Given the description of an element on the screen output the (x, y) to click on. 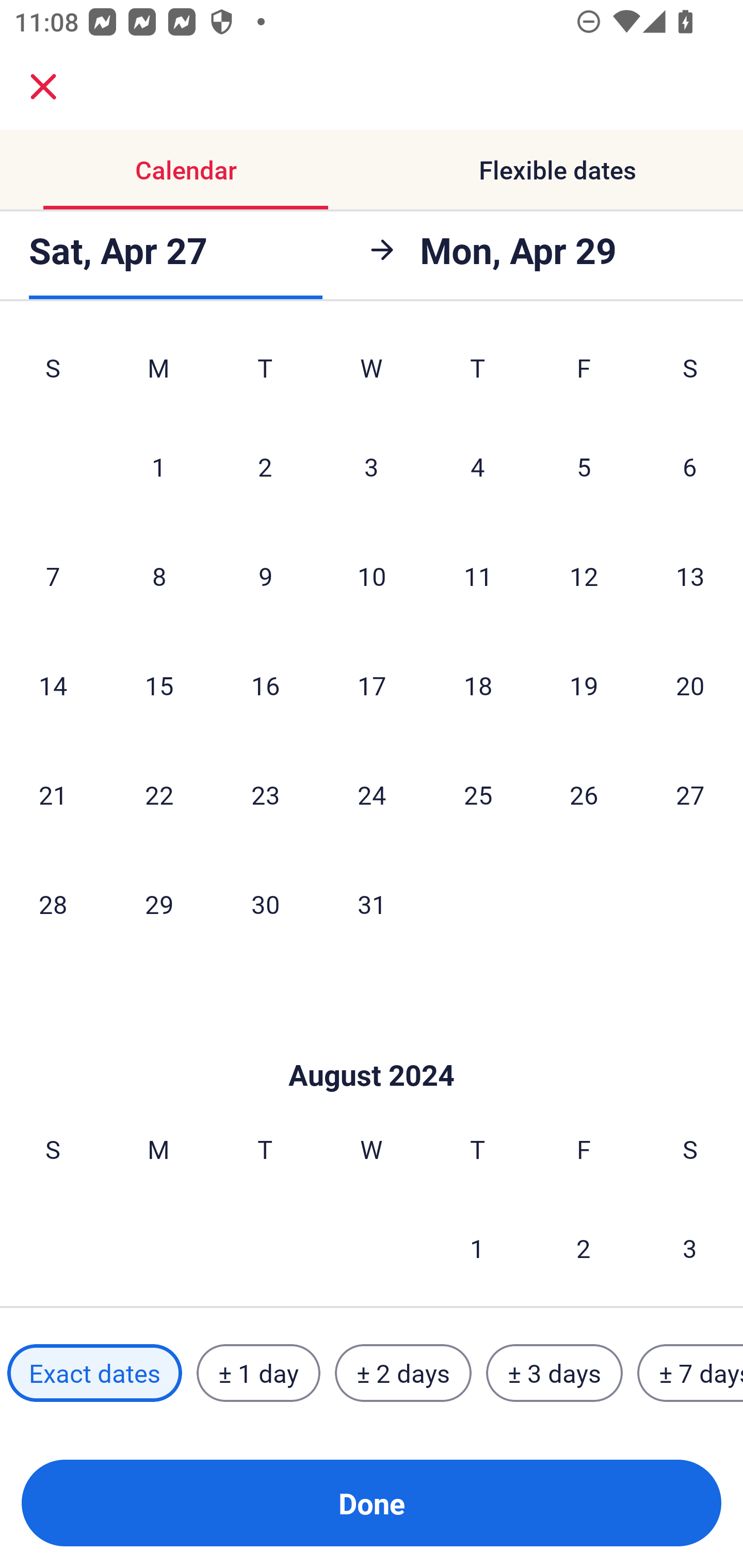
close. (43, 86)
Flexible dates (557, 170)
1 Monday, July 1, 2024 (158, 466)
2 Tuesday, July 2, 2024 (264, 466)
3 Wednesday, July 3, 2024 (371, 466)
4 Thursday, July 4, 2024 (477, 466)
5 Friday, July 5, 2024 (583, 466)
6 Saturday, July 6, 2024 (689, 466)
7 Sunday, July 7, 2024 (53, 575)
8 Monday, July 8, 2024 (159, 575)
9 Tuesday, July 9, 2024 (265, 575)
10 Wednesday, July 10, 2024 (371, 575)
11 Thursday, July 11, 2024 (477, 575)
12 Friday, July 12, 2024 (584, 575)
13 Saturday, July 13, 2024 (690, 575)
14 Sunday, July 14, 2024 (53, 684)
15 Monday, July 15, 2024 (159, 684)
16 Tuesday, July 16, 2024 (265, 684)
17 Wednesday, July 17, 2024 (371, 684)
18 Thursday, July 18, 2024 (477, 684)
19 Friday, July 19, 2024 (584, 684)
20 Saturday, July 20, 2024 (690, 684)
21 Sunday, July 21, 2024 (53, 793)
22 Monday, July 22, 2024 (159, 793)
23 Tuesday, July 23, 2024 (265, 793)
24 Wednesday, July 24, 2024 (371, 793)
25 Thursday, July 25, 2024 (477, 793)
26 Friday, July 26, 2024 (584, 793)
27 Saturday, July 27, 2024 (690, 793)
28 Sunday, July 28, 2024 (53, 903)
29 Monday, July 29, 2024 (159, 903)
30 Tuesday, July 30, 2024 (265, 903)
31 Wednesday, July 31, 2024 (371, 903)
Skip to Done (371, 1044)
1 Thursday, August 1, 2024 (477, 1247)
2 Friday, August 2, 2024 (583, 1247)
3 Saturday, August 3, 2024 (689, 1247)
Exact dates (94, 1372)
± 1 day (258, 1372)
± 2 days (403, 1372)
± 3 days (553, 1372)
± 7 days (690, 1372)
Done (371, 1502)
